Given the description of an element on the screen output the (x, y) to click on. 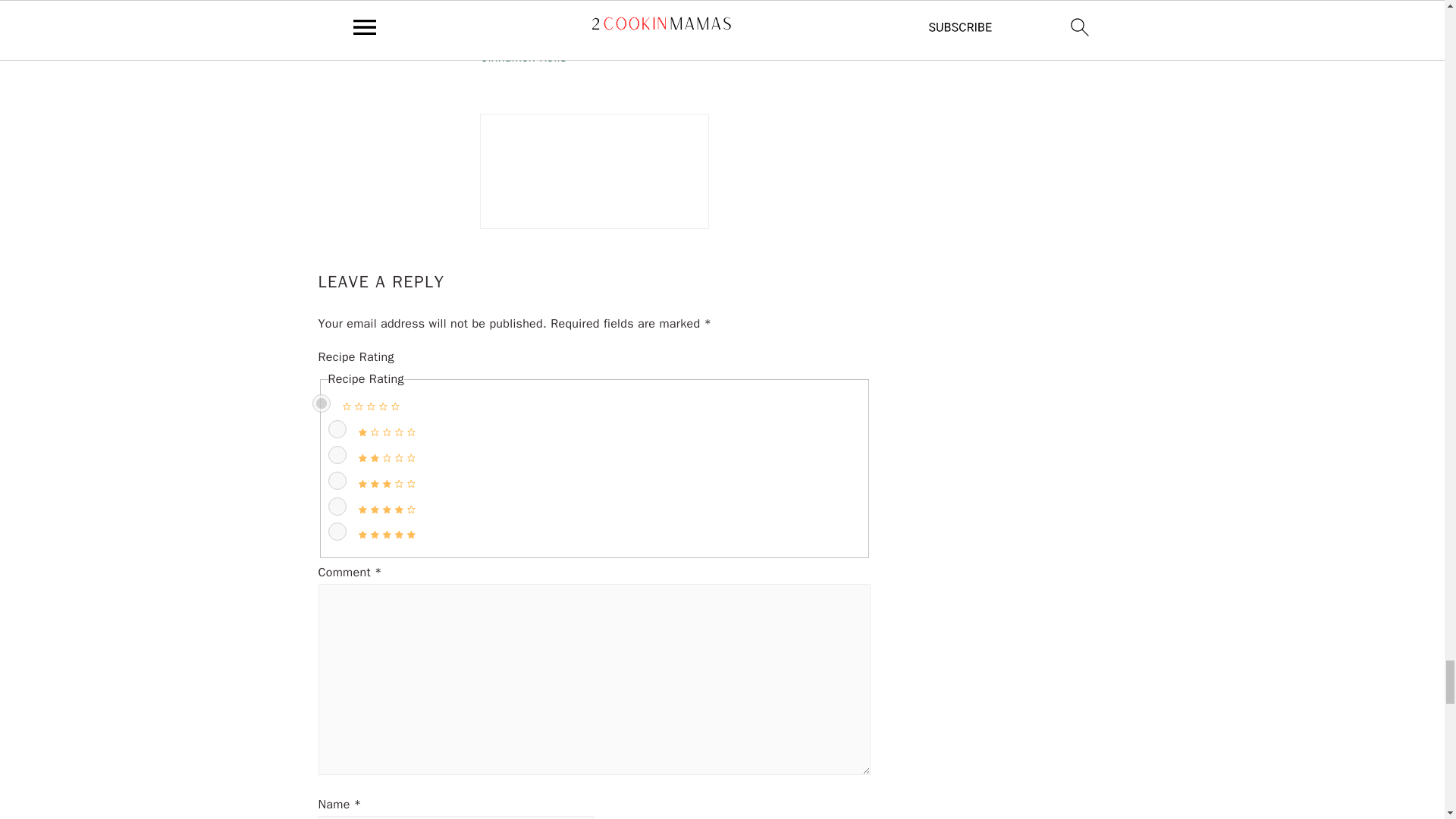
2 (336, 454)
1 (336, 429)
0 (321, 402)
5 (336, 531)
4 (336, 506)
3 (336, 480)
